Given the description of an element on the screen output the (x, y) to click on. 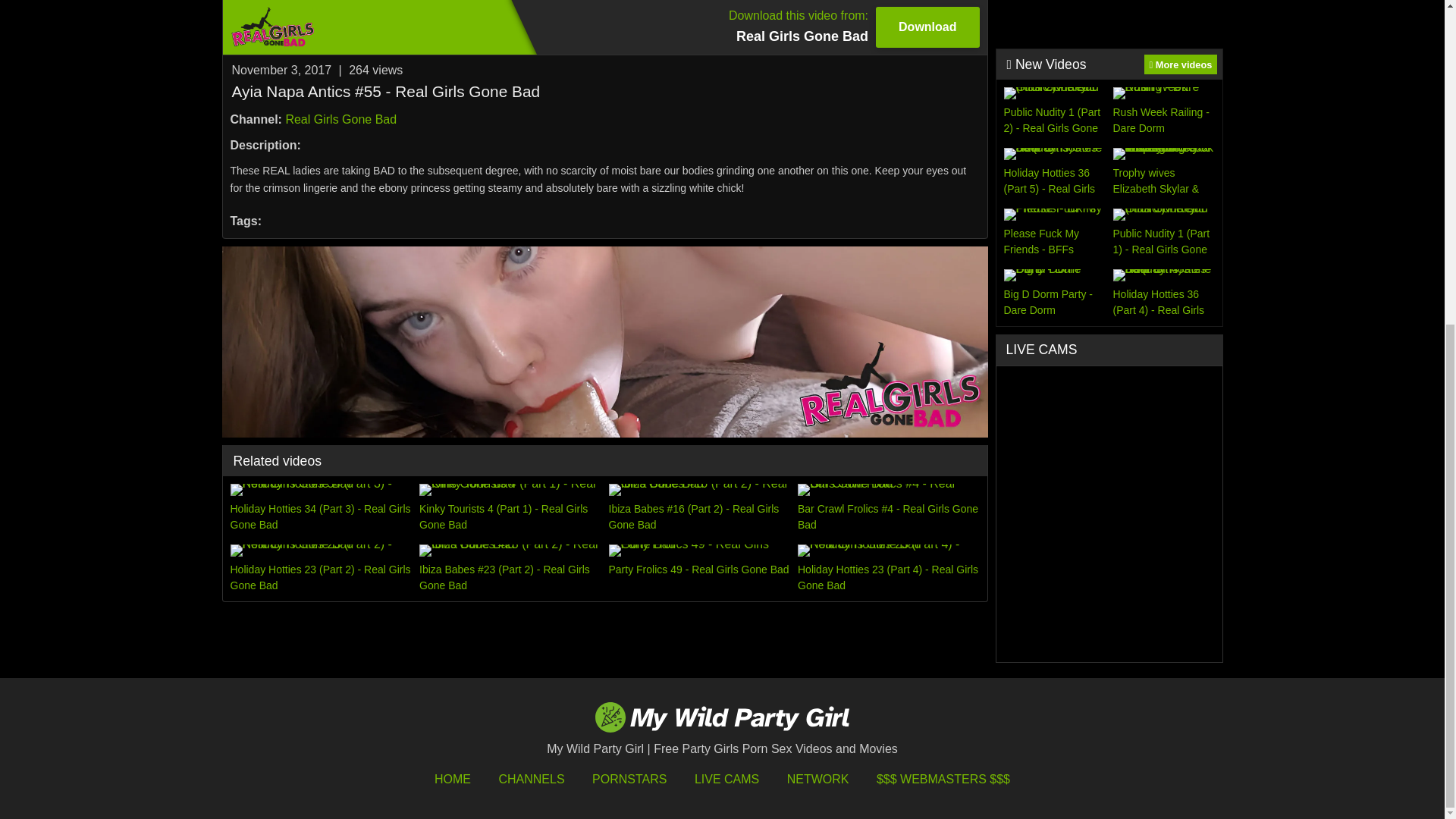
Real Girls Gone Bad (340, 119)
Party Frolics 49 - Real Girls Gone Bad (604, 27)
More videos (699, 568)
Rush Week Railing - Dare Dorm (1179, 64)
